Given the description of an element on the screen output the (x, y) to click on. 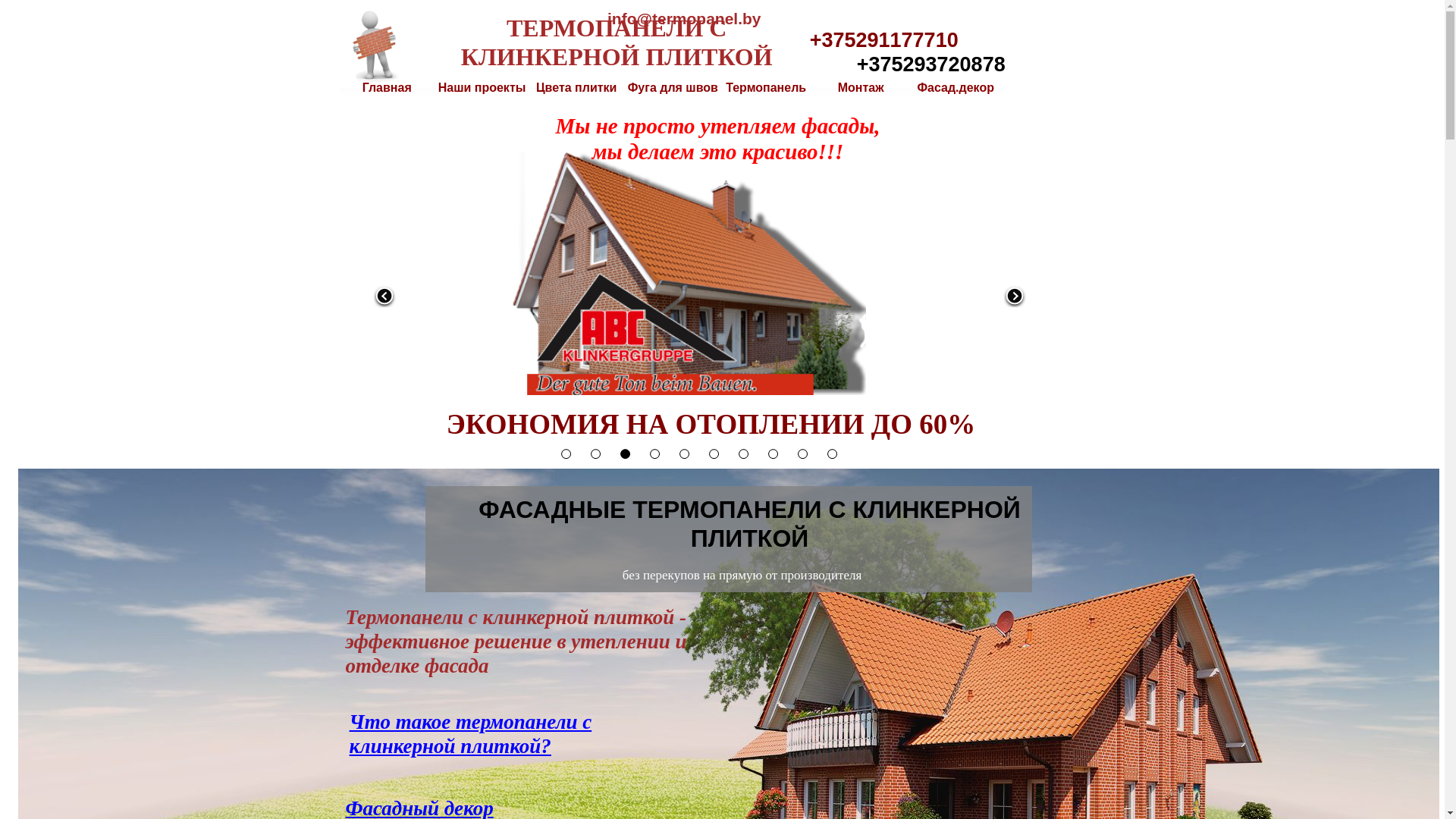
+375293720878 Element type: text (930, 64)
+375291177710 Element type: text (883, 39)
